Given the description of an element on the screen output the (x, y) to click on. 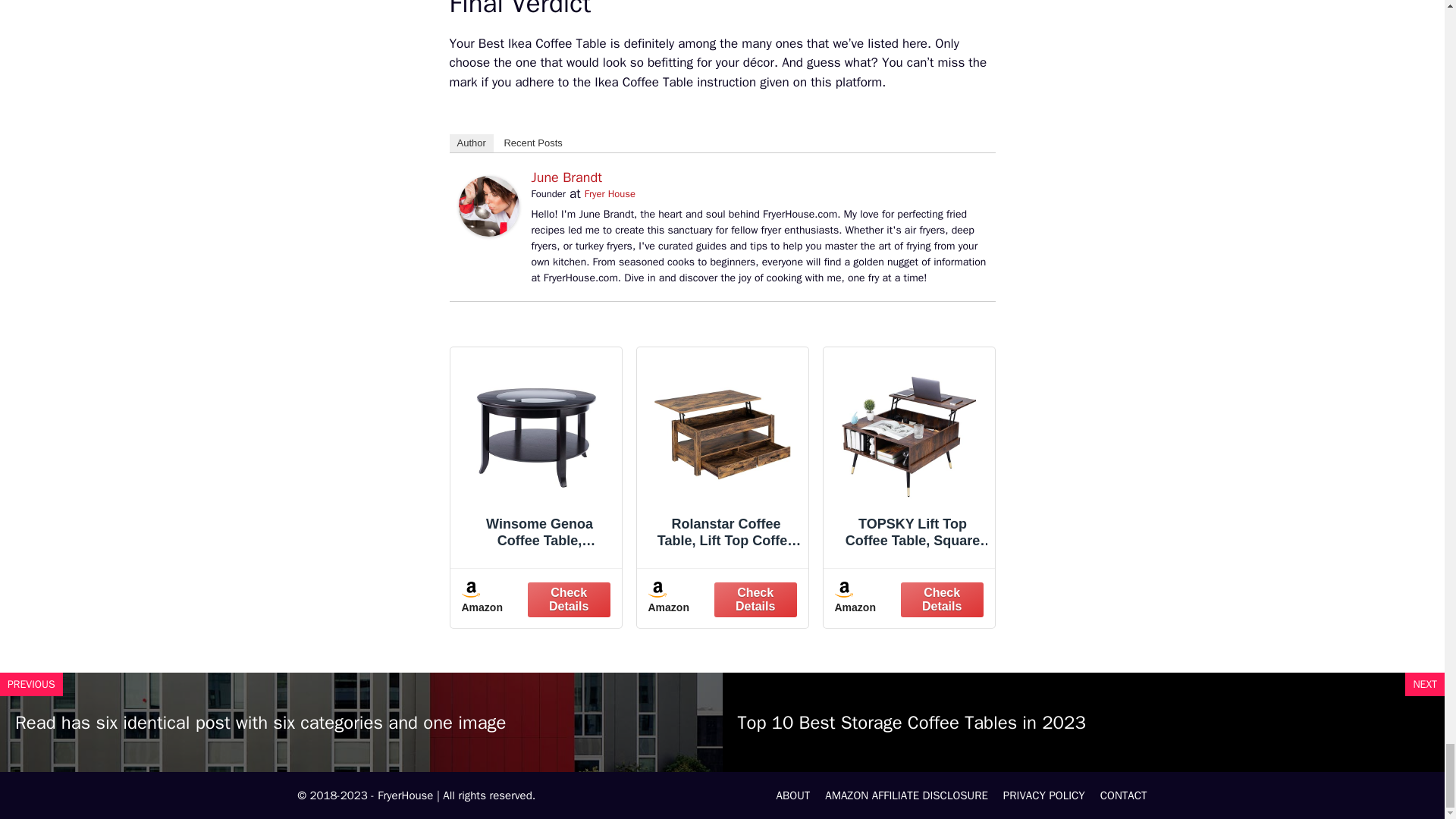
June Brandt (566, 176)
Author (470, 143)
Recent Posts (532, 143)
Fryer House (609, 193)
June Brandt (488, 232)
